Given the description of an element on the screen output the (x, y) to click on. 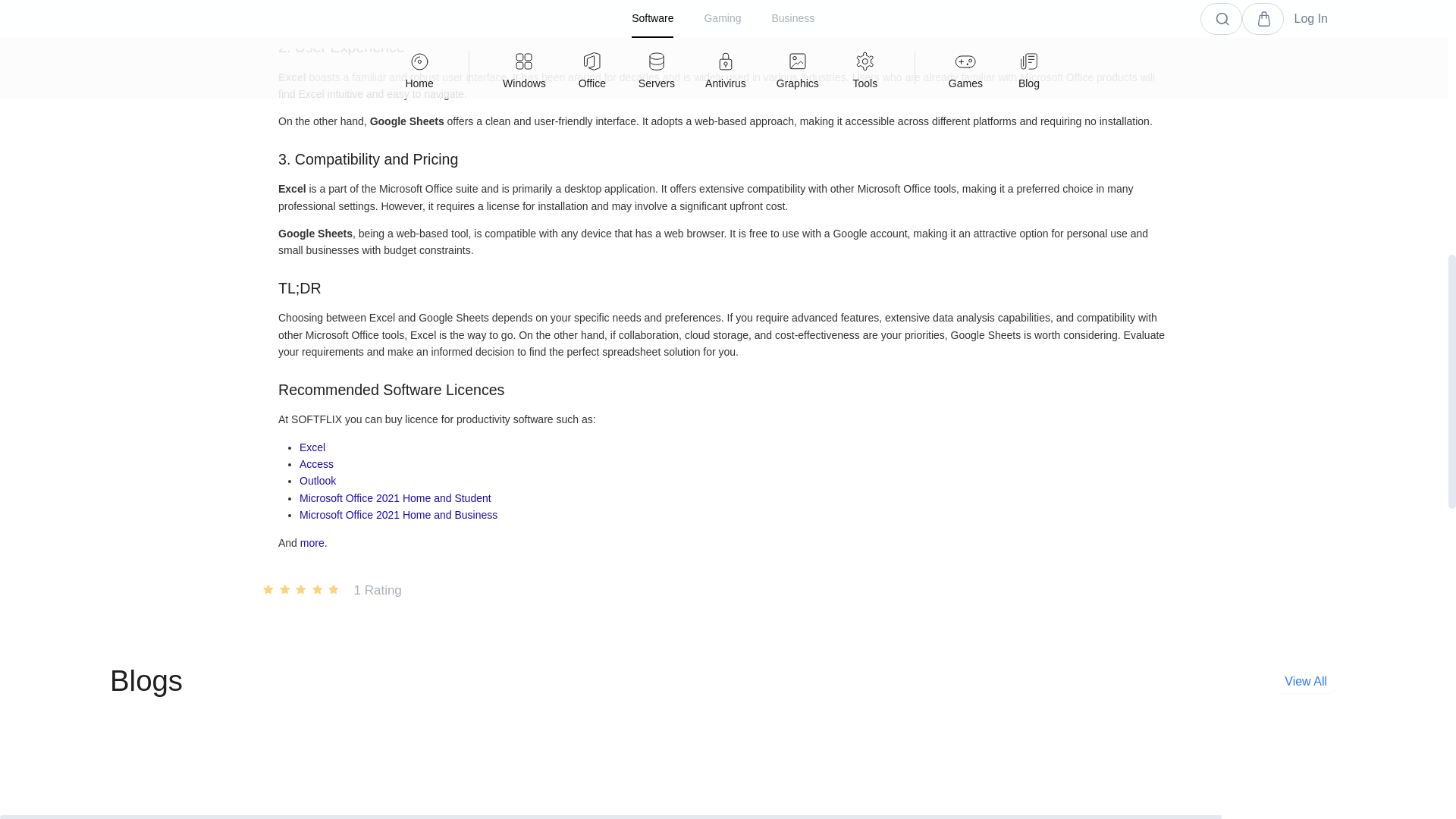
Microsoft Office 2021 Home and Student (395, 498)
more (311, 542)
Outlook (317, 480)
Access (316, 463)
View All (1305, 680)
Excel (311, 447)
Microsoft Office 2021 Home and Business (398, 514)
